Given the description of an element on the screen output the (x, y) to click on. 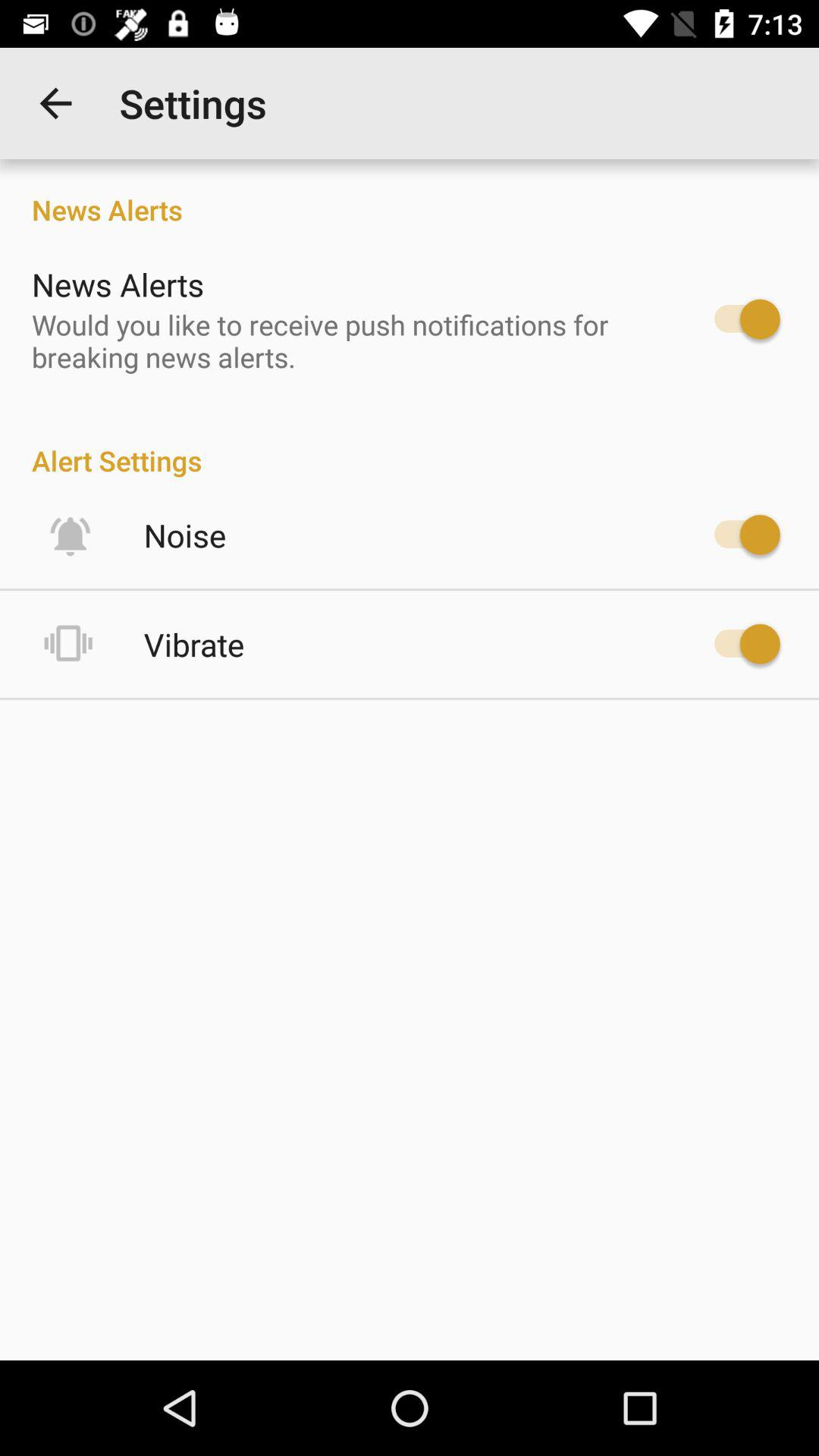
jump until alert settings item (409, 444)
